Given the description of an element on the screen output the (x, y) to click on. 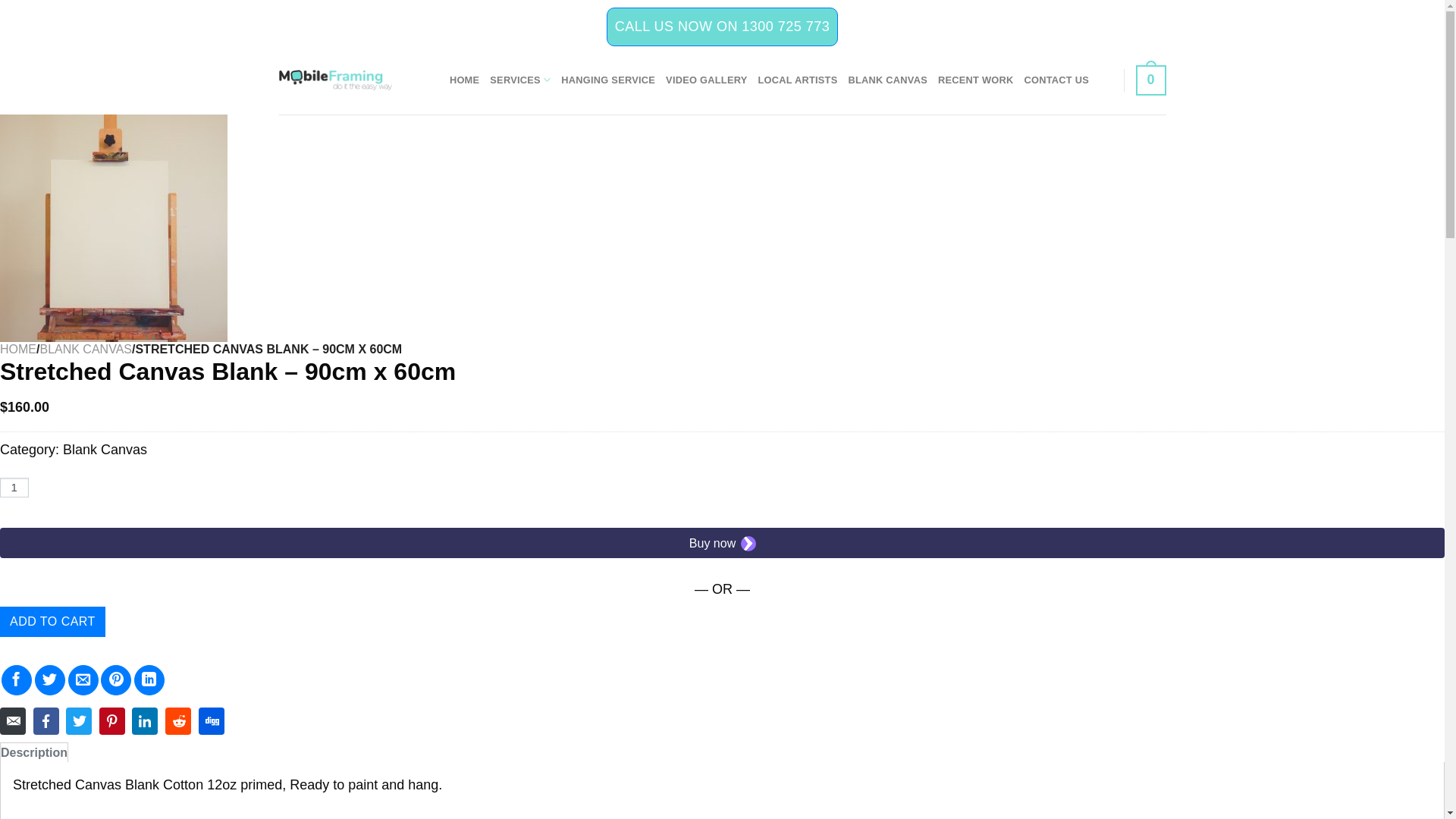
Description Element type: text (33, 752)
Email to a Friend Element type: hover (83, 680)
BLANK CANVAS Element type: text (85, 348)
Secure payment button frame Element type: hover (722, 542)
HOME Element type: text (464, 80)
RECENT WORK Element type: text (975, 80)
Blank Canvas Element type: text (104, 449)
ADD TO CART Element type: text (52, 621)
justyn-warner-VH8w75u3LE0-unsplash-1-300x300 Element type: hover (113, 228)
CONTACT US Element type: text (1055, 80)
CALL US NOW ON 1300 725 773 Element type: text (721, 26)
Share on Twitter Element type: hover (49, 680)
BLANK CANVAS Element type: text (887, 80)
Share on Facebook Element type: hover (16, 680)
Pin on Pinterest Element type: hover (115, 680)
HANGING SERVICE Element type: text (608, 80)
VIDEO GALLERY Element type: text (705, 80)
HOME Element type: text (18, 348)
LOCAL ARTISTS Element type: text (797, 80)
SERVICES Element type: text (519, 80)
Share on LinkedIn Element type: hover (149, 680)
0 Element type: text (1150, 79)
